Given the description of an element on the screen output the (x, y) to click on. 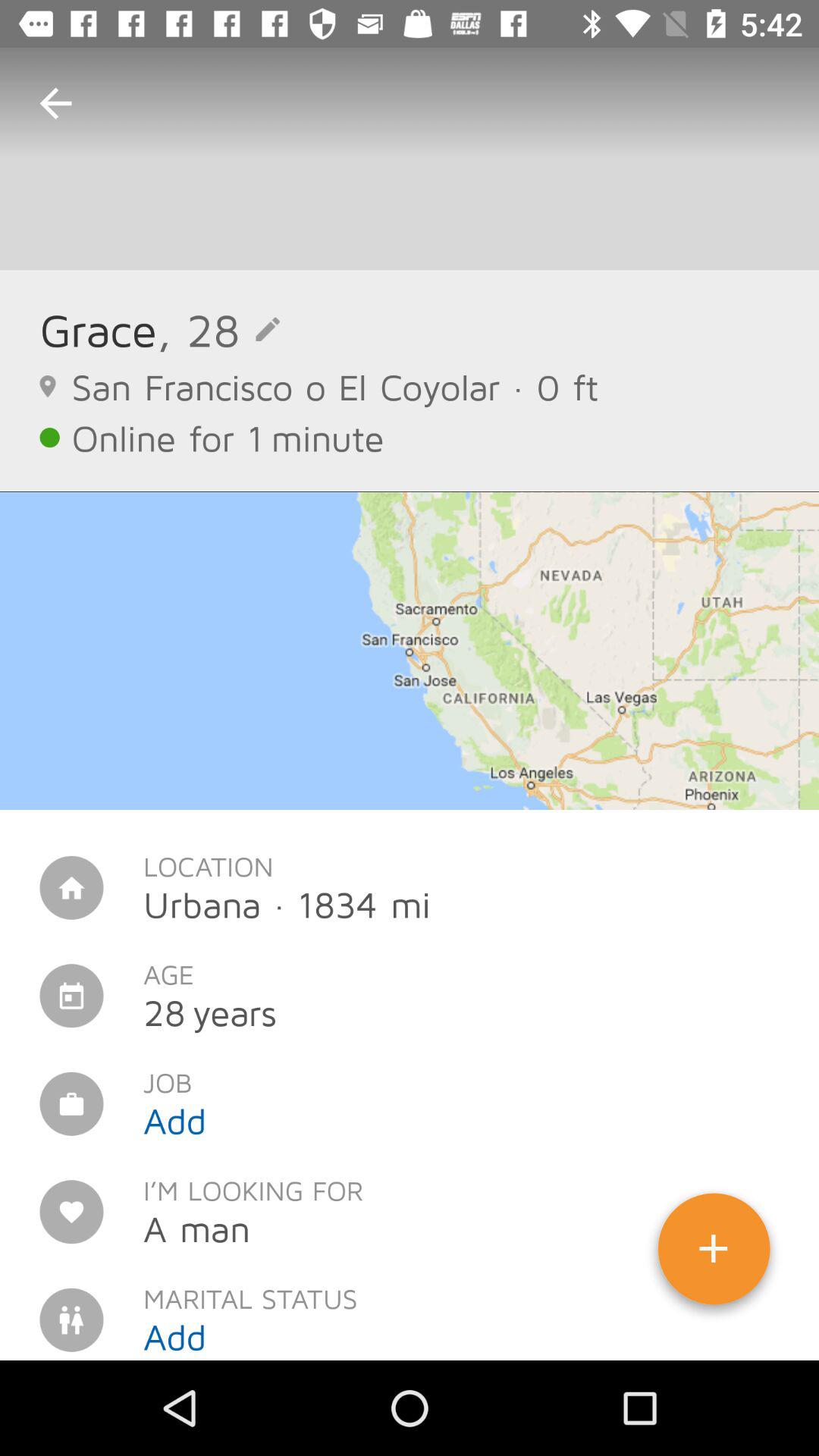
turn on item next to the grace (217, 329)
